Given the description of an element on the screen output the (x, y) to click on. 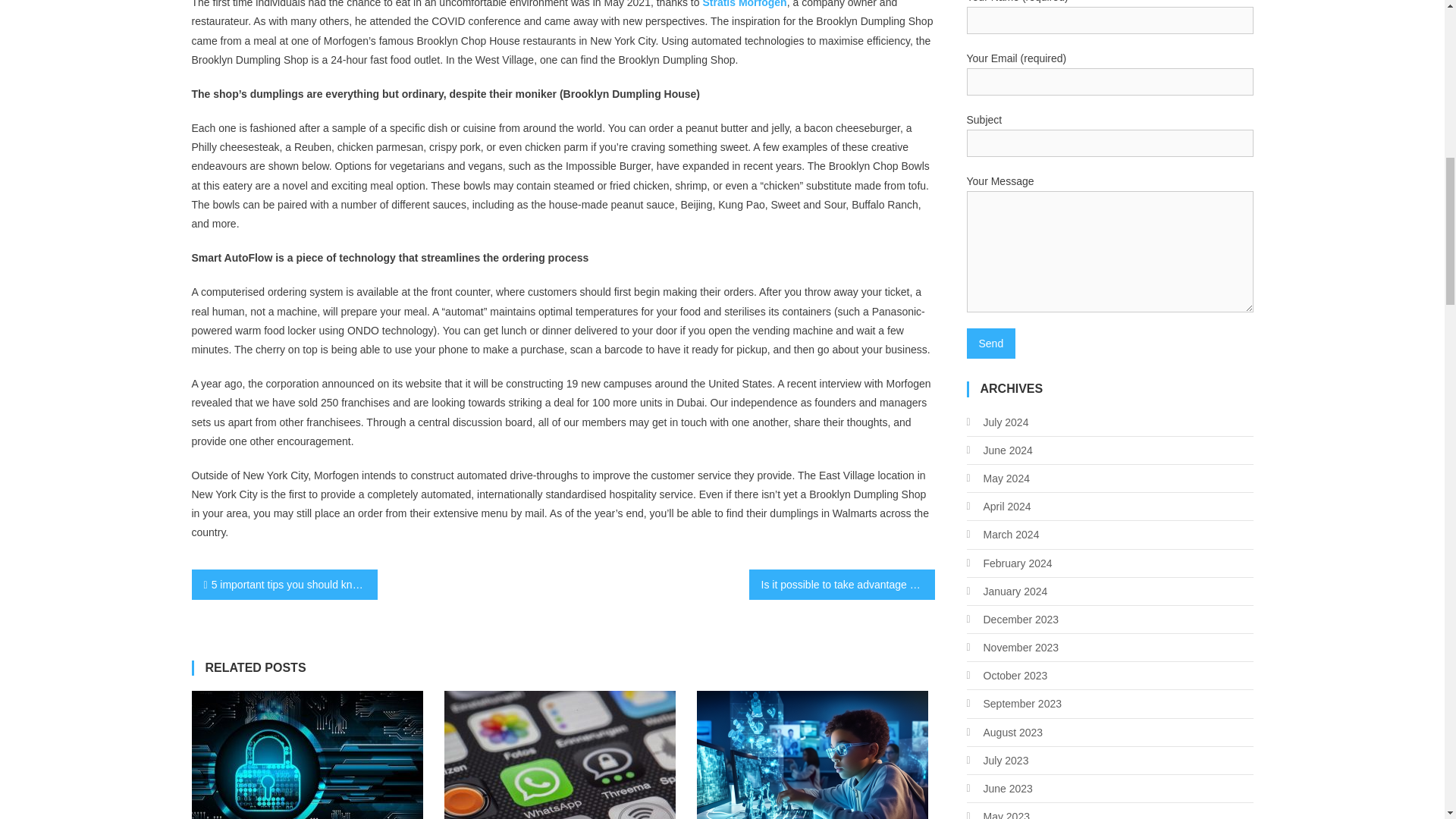
Send (990, 343)
Is it possible to take advantage of a bonus more than once? (841, 584)
Stratis Morfogen (743, 4)
